Given the description of an element on the screen output the (x, y) to click on. 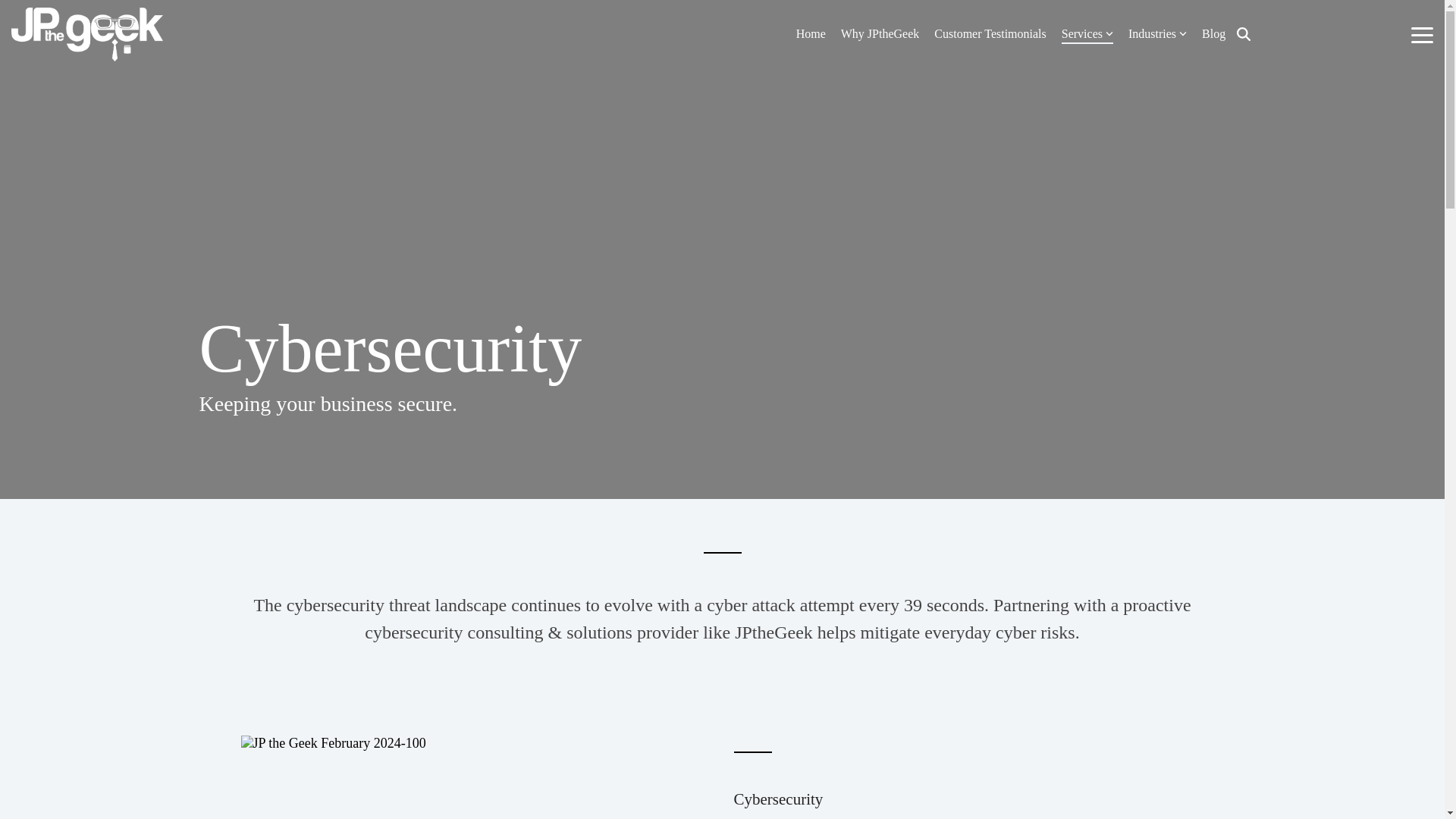
Home (810, 33)
Industries (1157, 33)
Services (1087, 33)
Customer Testimonials (989, 33)
Why JPtheGeek (880, 33)
white-logo-1 (87, 34)
